Given the description of an element on the screen output the (x, y) to click on. 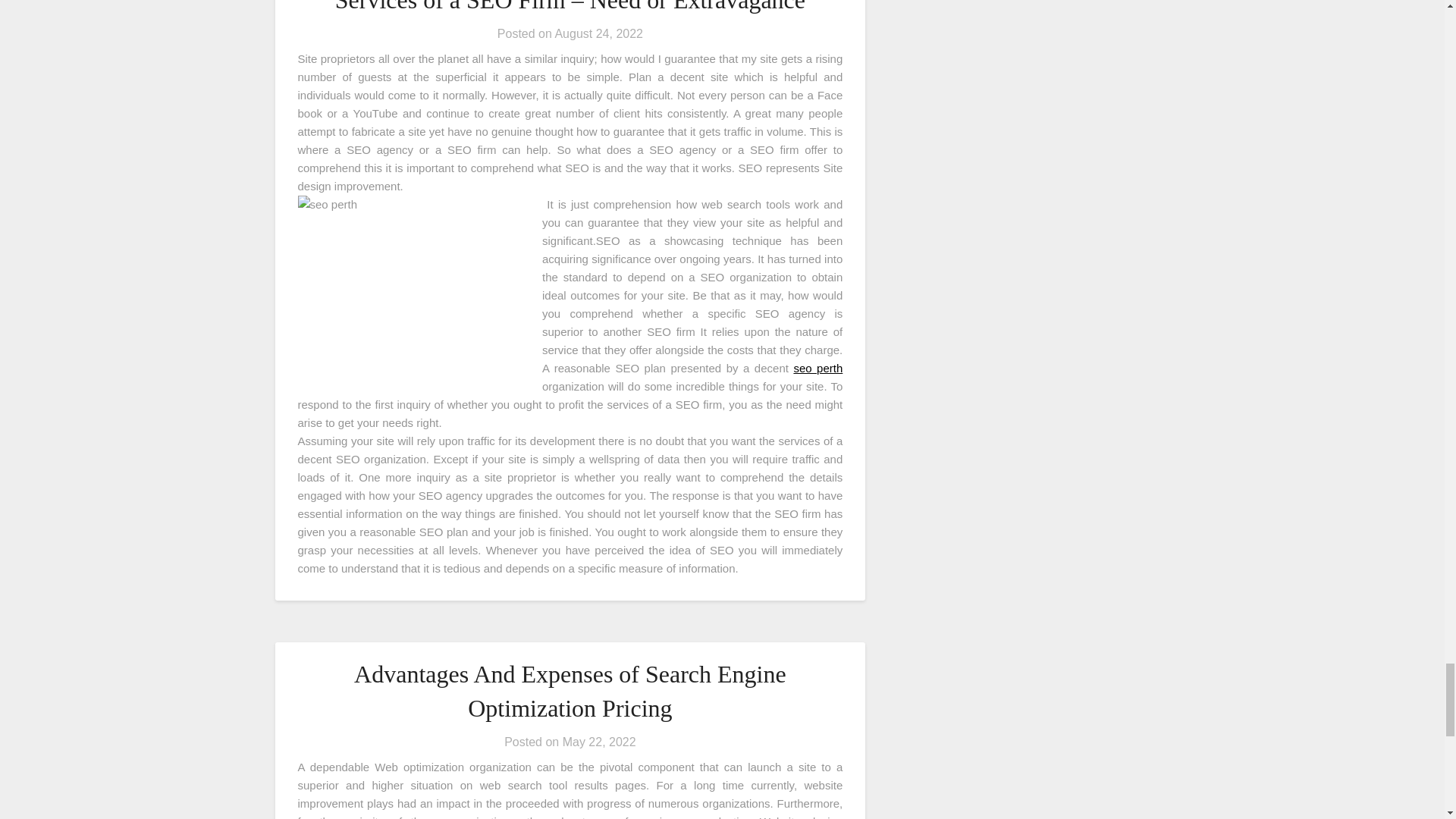
August 24, 2022 (598, 33)
May 22, 2022 (599, 741)
seo perth (818, 367)
